Given the description of an element on the screen output the (x, y) to click on. 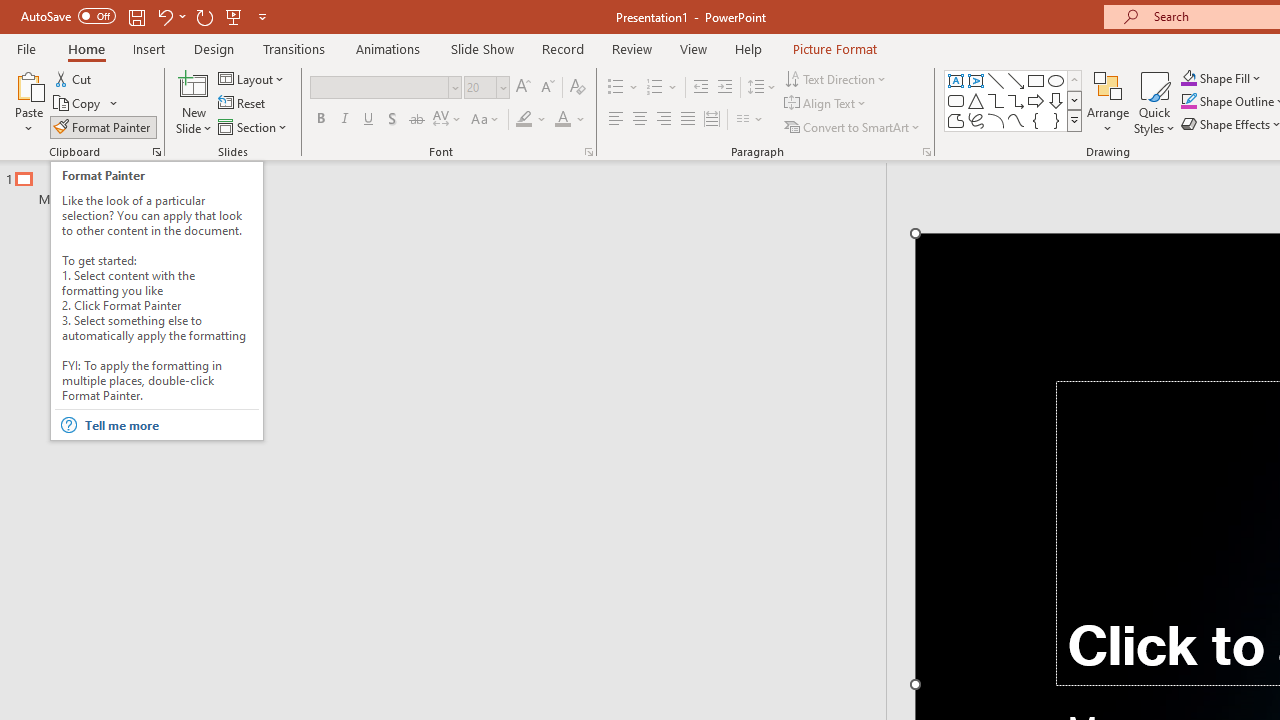
Oval (1055, 80)
Text Highlight Color Yellow (524, 119)
Increase Font Size (522, 87)
Arrow: Down (1055, 100)
Quick Styles (1154, 102)
Outline (452, 184)
Align Text (826, 103)
Distributed (712, 119)
Rectangle: Rounded Corners (955, 100)
